Given the description of an element on the screen output the (x, y) to click on. 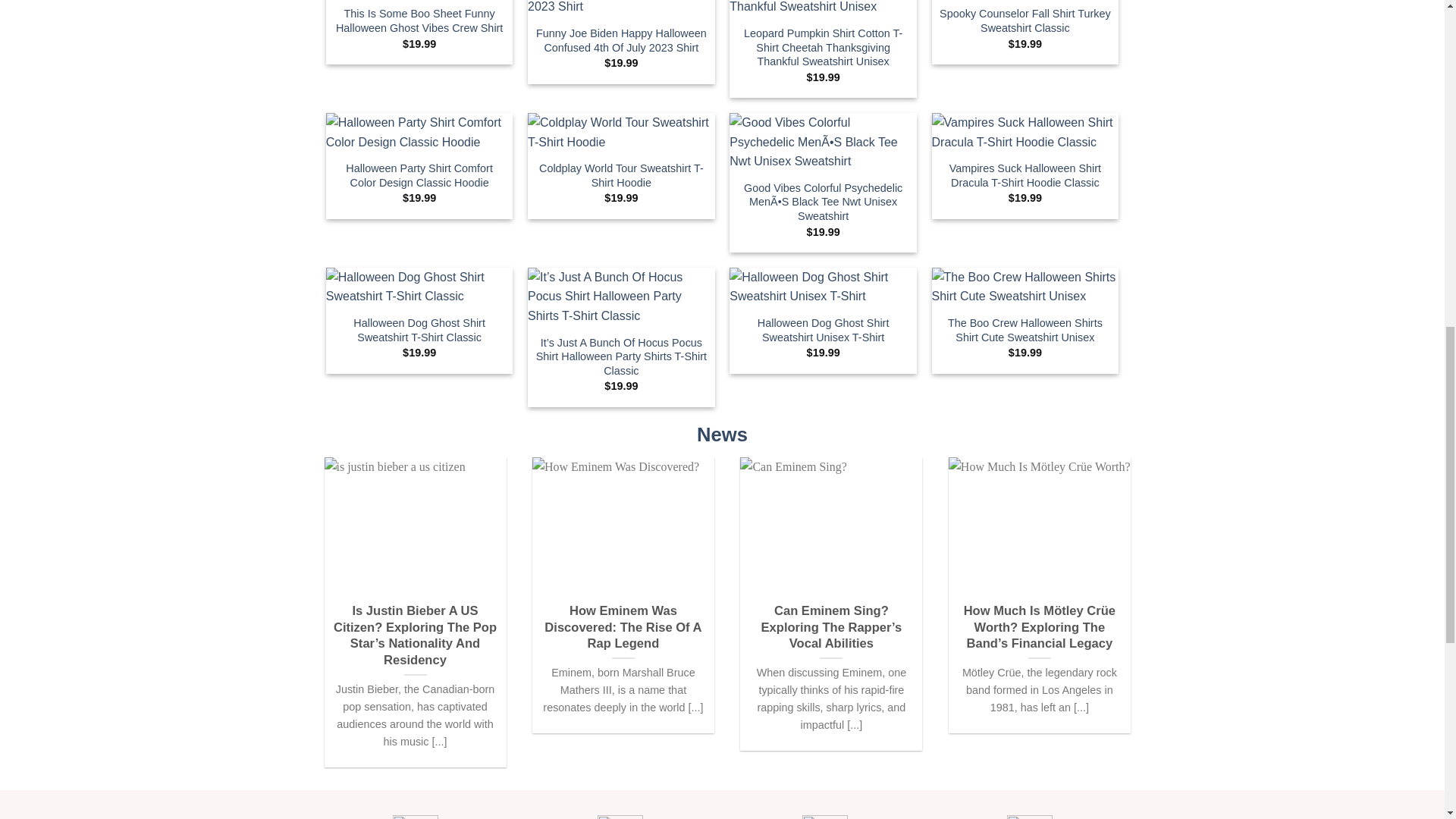
Coldplay World Tour  Sweatshirt T-Shirt Hoodie (620, 132)
Halloween Party Shirt Comfort Color Design Classic Hoodie (419, 132)
